Given the description of an element on the screen output the (x, y) to click on. 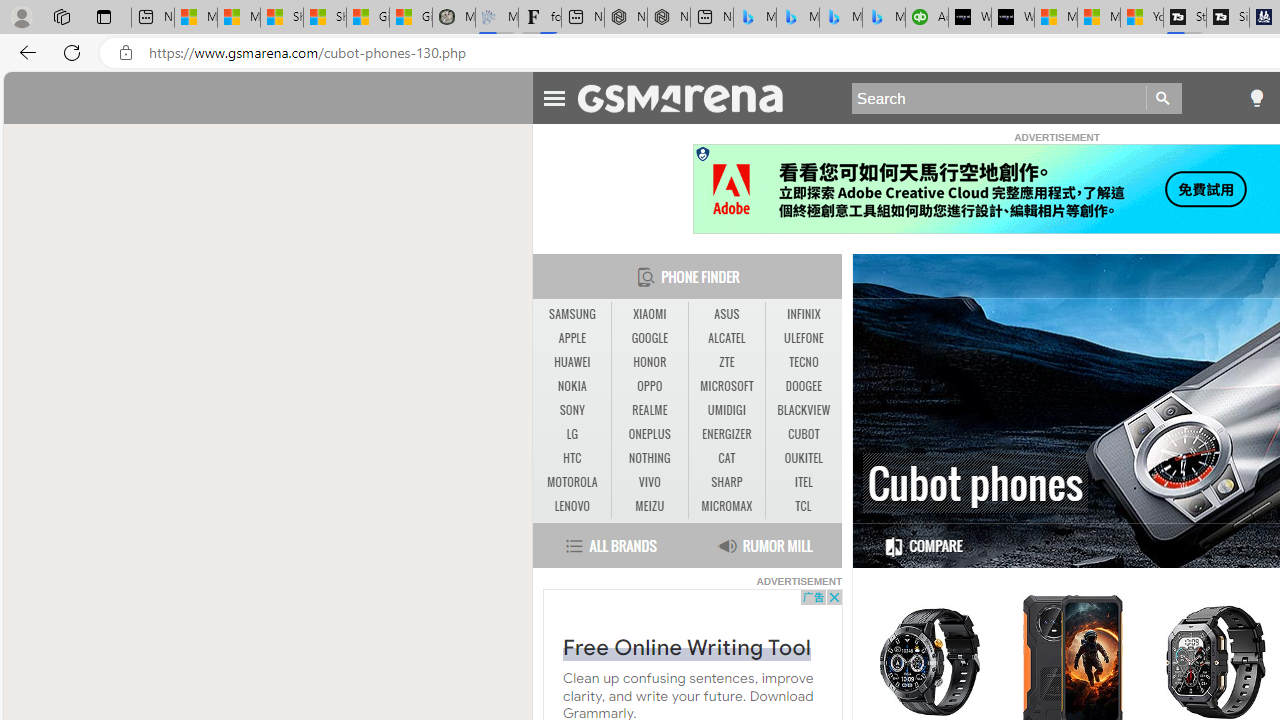
OUKITEL (803, 458)
ONEPLUS (649, 434)
VIVO (649, 483)
TECNO (803, 362)
APPLE (571, 339)
ULEFONE (803, 339)
MOTOROLA (571, 482)
ASUS (726, 313)
HUAWEI (571, 362)
GOOGLE (649, 338)
BLACKVIEW (803, 410)
INFINIX (803, 314)
